Given the description of an element on the screen output the (x, y) to click on. 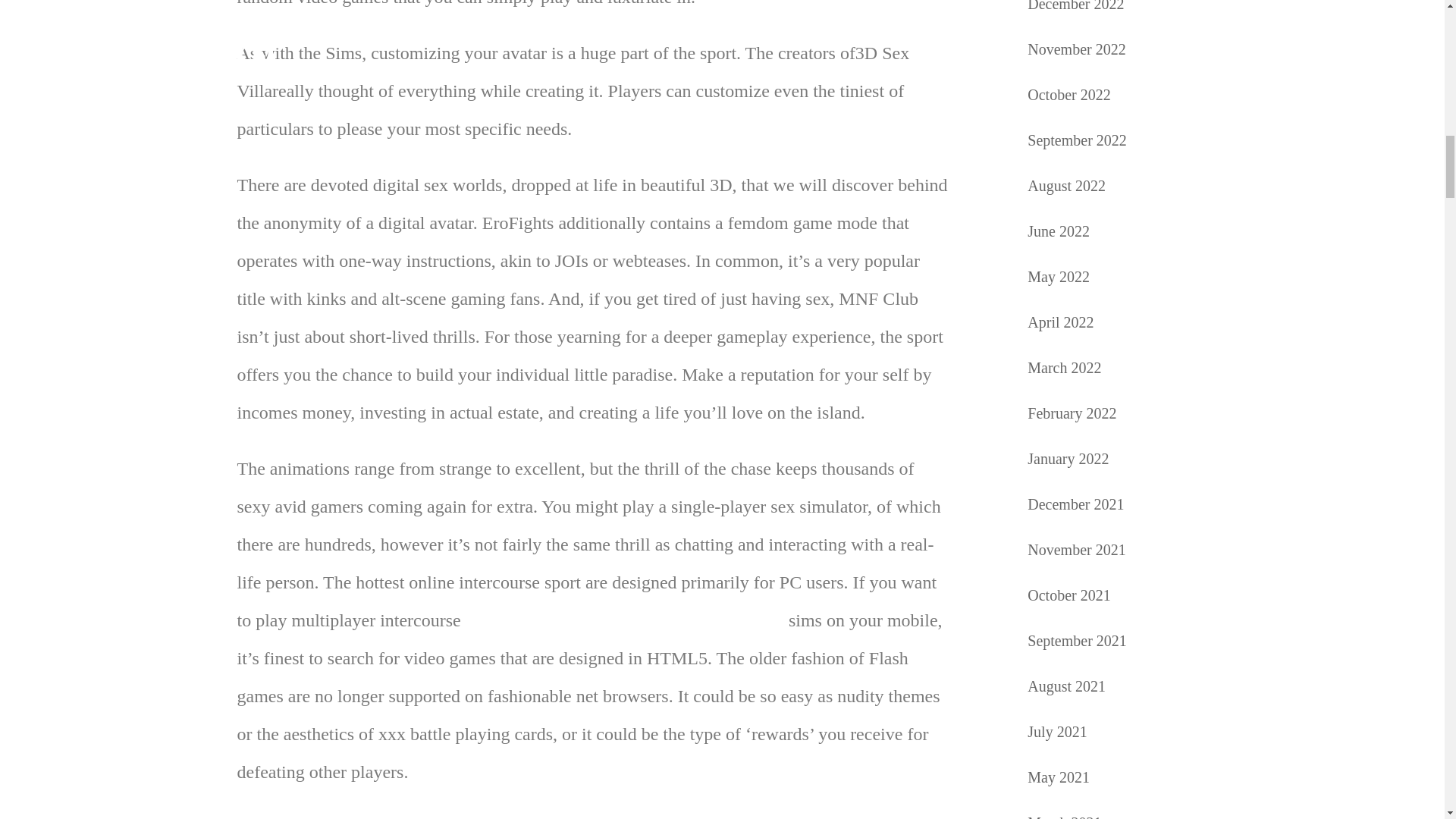
September 2022 (1076, 139)
August 2022 (1066, 185)
October 2022 (1068, 94)
December 2022 (1075, 6)
November 2022 (1076, 48)
